Given the description of an element on the screen output the (x, y) to click on. 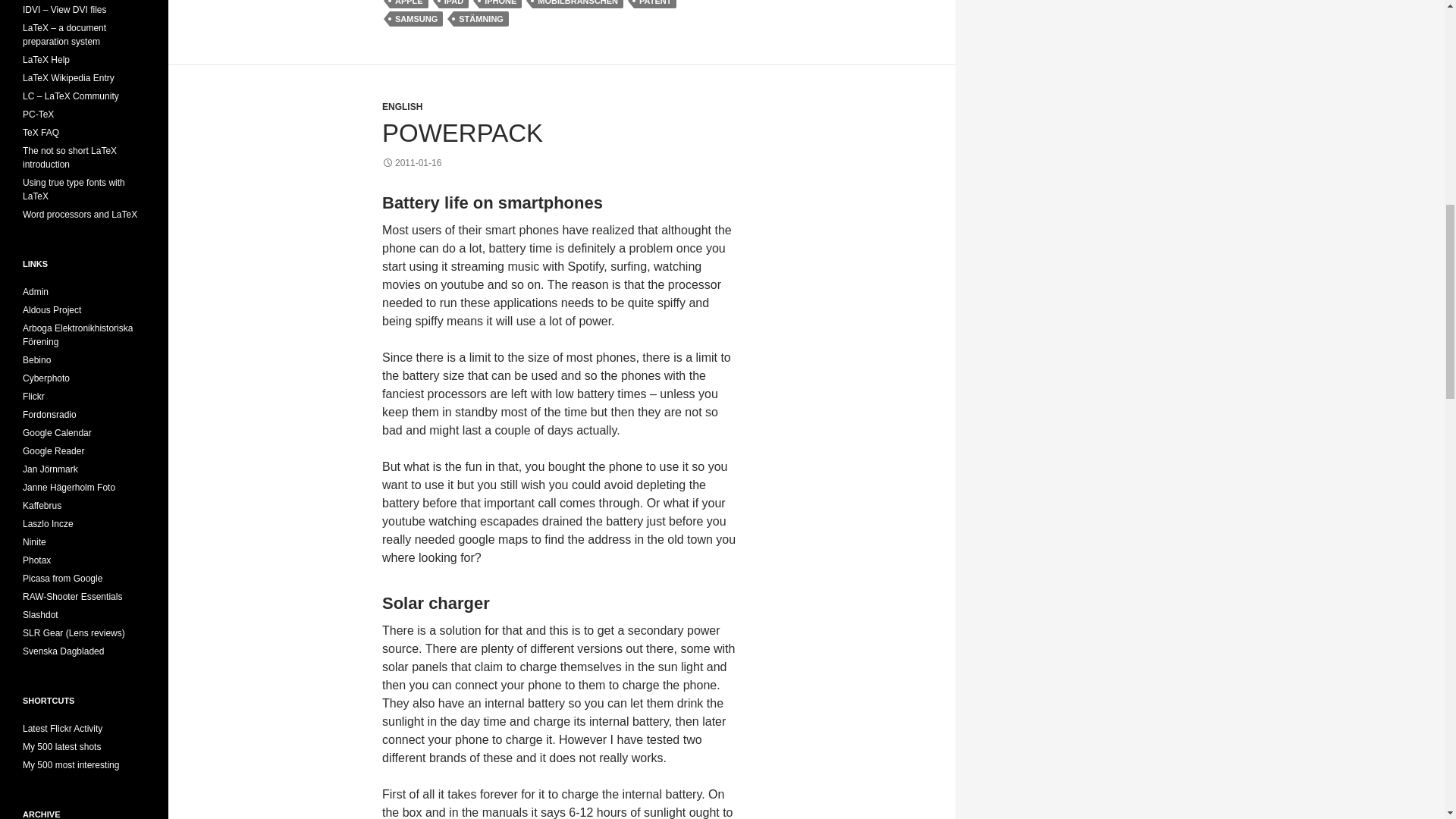
POWERPACK (462, 132)
MOBILBRANSCHEN (577, 4)
2011-01-16 (411, 163)
IPAD (453, 4)
ENGLISH (401, 106)
PATENT (655, 4)
IPHONE (500, 4)
SAMSUNG (416, 18)
APPLE (409, 4)
